Given the description of an element on the screen output the (x, y) to click on. 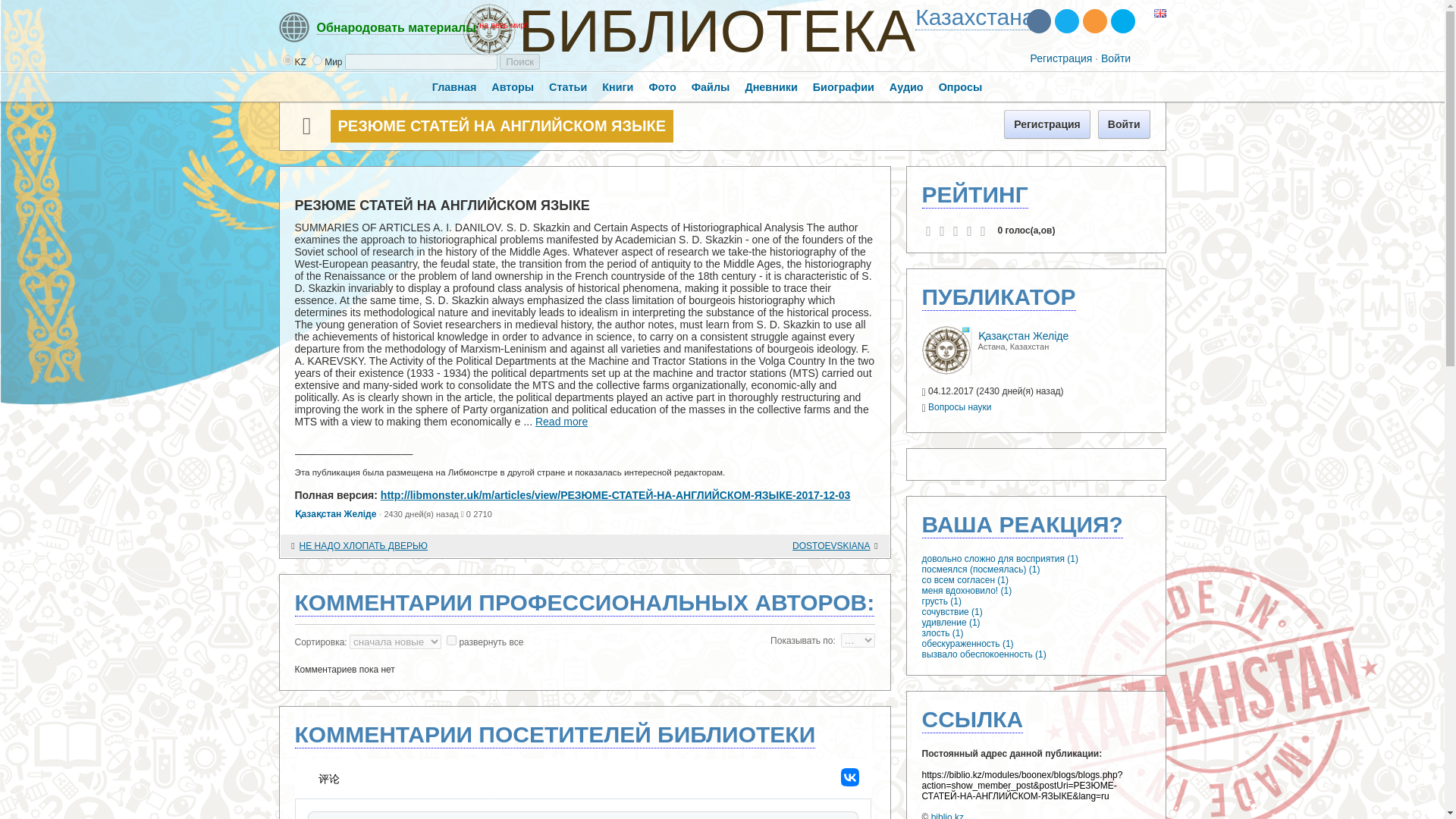
on (451, 640)
Read more (561, 421)
International Library Network (974, 16)
DOSTOEVSKIANA (766, 545)
0 (287, 60)
1 (317, 60)
Switch to English (1160, 14)
